Given the description of an element on the screen output the (x, y) to click on. 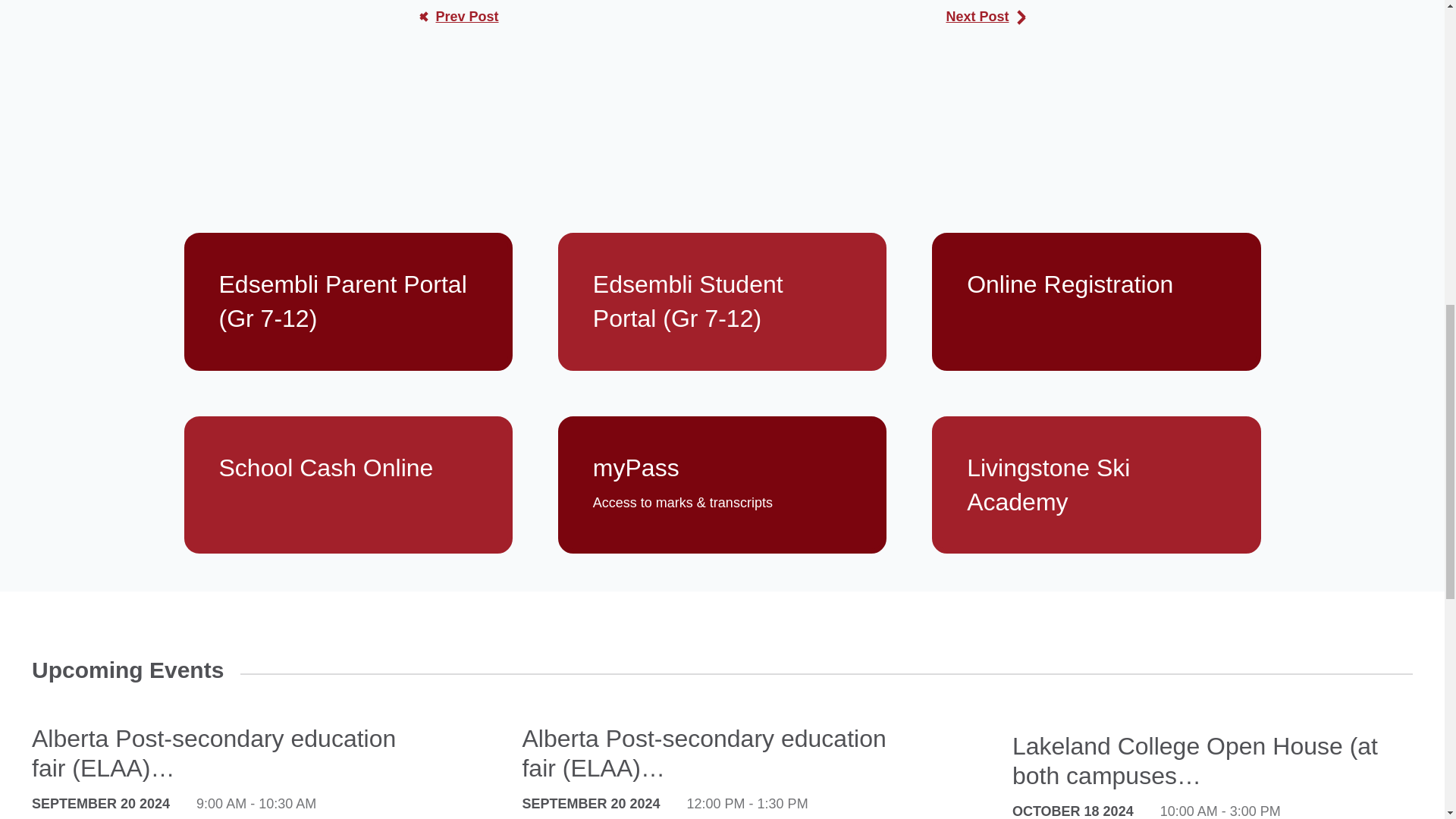
myPass (721, 485)
Next Post (984, 16)
School Cash Online (347, 485)
Livingstone Ski Academy (1095, 485)
Previous Post (458, 16)
Online Registration (1095, 301)
